Given the description of an element on the screen output the (x, y) to click on. 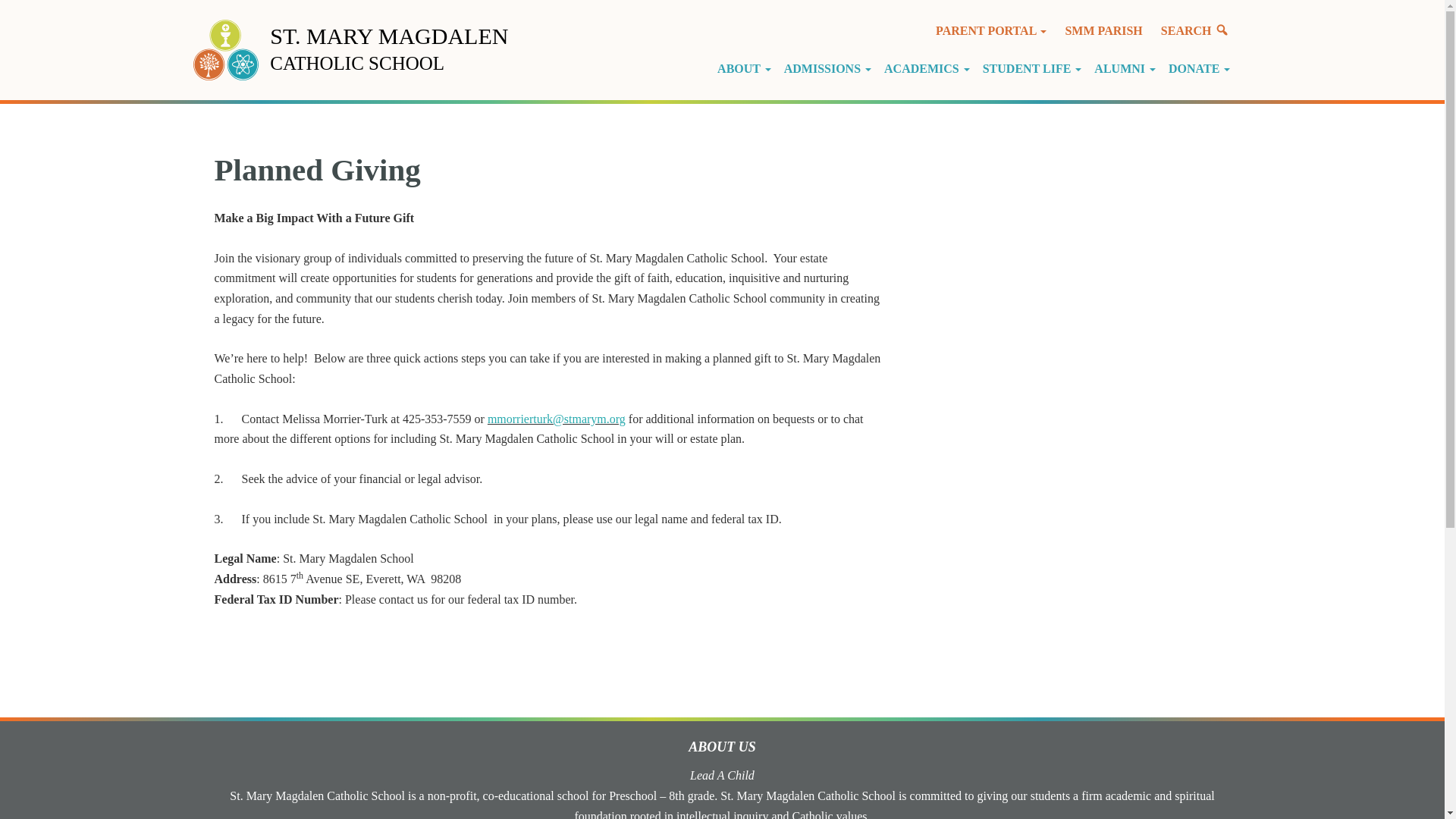
SMM Parish (1103, 30)
PARENT PORTAL (990, 30)
ST. MARY MAGDALEN (388, 35)
Search (1195, 30)
SMM PARISH (1103, 30)
Parent Portal (990, 30)
STUDENT LIFE (1034, 68)
ACADEMICS (929, 68)
SEARCH (1195, 30)
About (746, 68)
ADMISSIONS (830, 68)
ABOUT (746, 68)
